Given the description of an element on the screen output the (x, y) to click on. 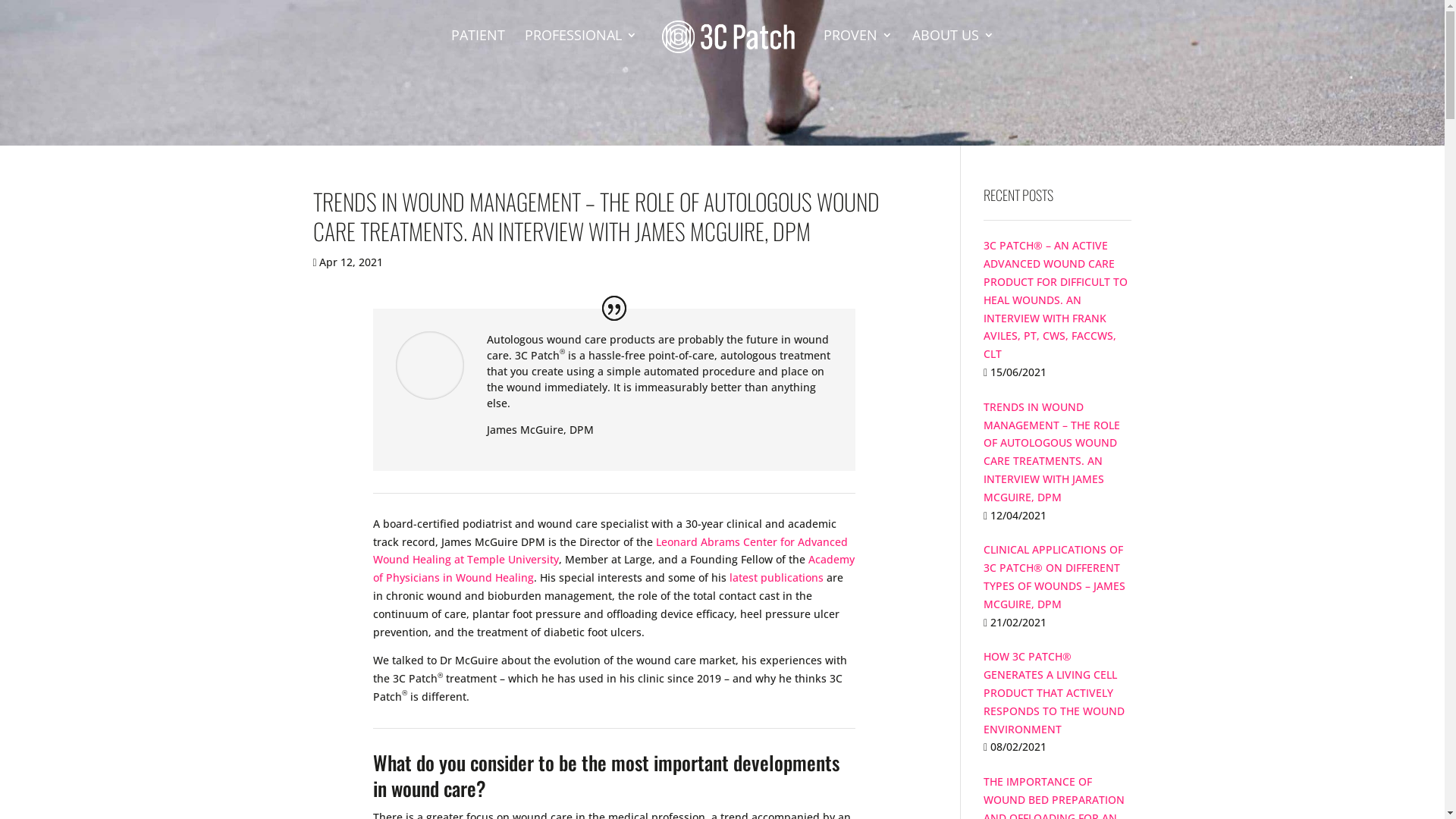
Mail to Reapplix Europe Element type: text (805, 640)
Mail to Reapplix US Element type: text (577, 640)
Diabetic Foot Ulcers Element type: text (1010, 687)
Privacy Policy Element type: text (531, 797)
+1 866 327 2824 Element type: text (569, 622)
Academy of Physicians in Wound Healing Element type: text (613, 568)
PROFESSIONAL Element type: text (580, 49)
VISIT OUR CORPORATE SITE REAPPLIX.COM Element type: text (397, 631)
PROVEN Element type: text (857, 49)
+45 88 16 80 66 Element type: text (783, 622)
ABOUT US Element type: text (952, 49)
Cookie Policy Element type: text (609, 797)
latest publications Element type: text (776, 577)
Chronic Wounds Element type: text (1002, 705)
Advanced Wound Care Element type: text (1018, 669)
PATIENT Element type: text (477, 49)
